Given the description of an element on the screen output the (x, y) to click on. 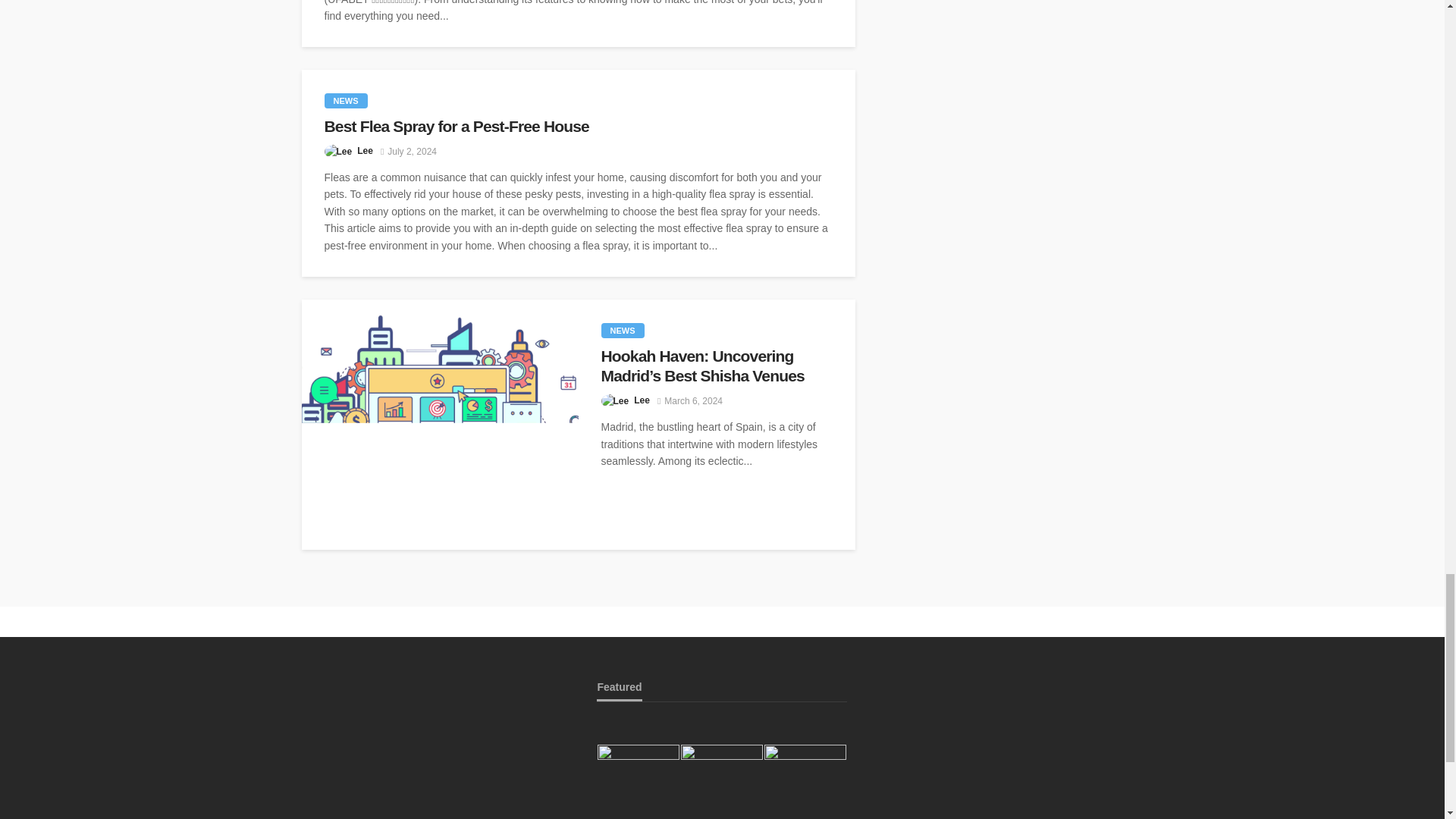
Best Flea Spray for a Pest-Free House (578, 126)
NEWS (346, 100)
Best Flea Spray for a Pest-Free House (578, 126)
Lee (364, 150)
News (346, 100)
News (621, 330)
